Given the description of an element on the screen output the (x, y) to click on. 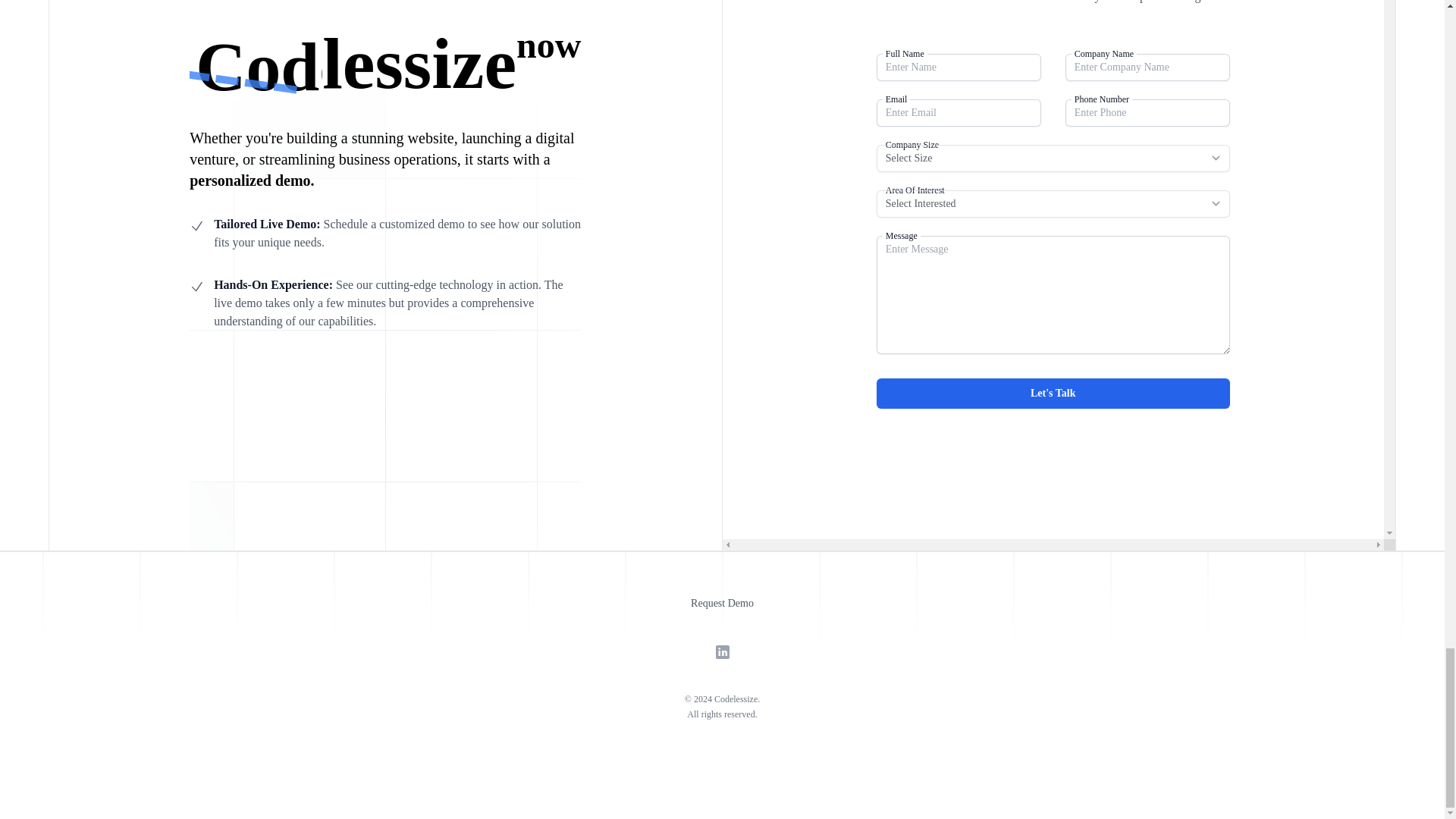
Linkedin (721, 651)
Let's Talk (1053, 393)
Request Demo (722, 603)
